Given the description of an element on the screen output the (x, y) to click on. 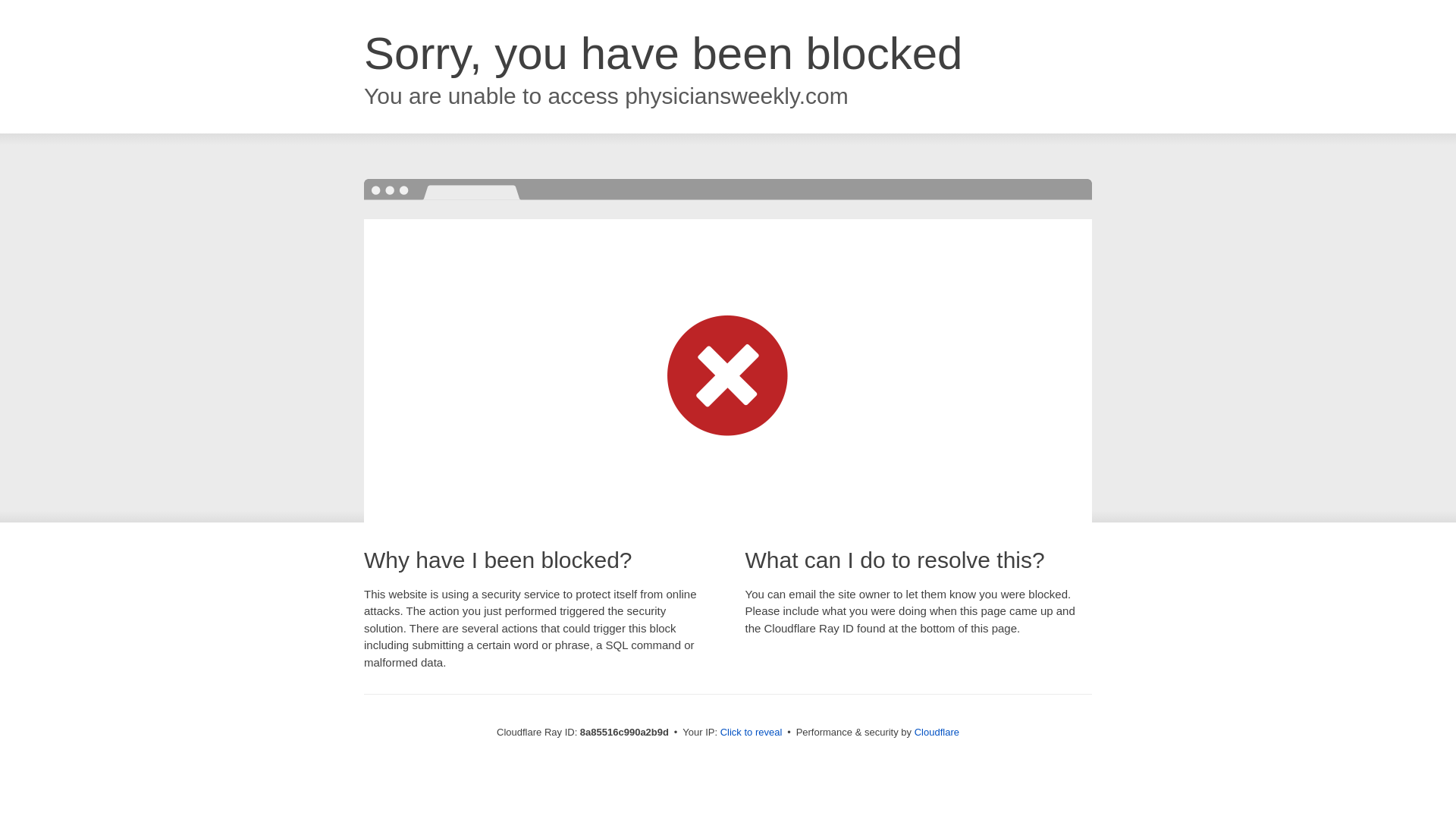
Click to reveal (751, 732)
Cloudflare (936, 731)
